Given the description of an element on the screen output the (x, y) to click on. 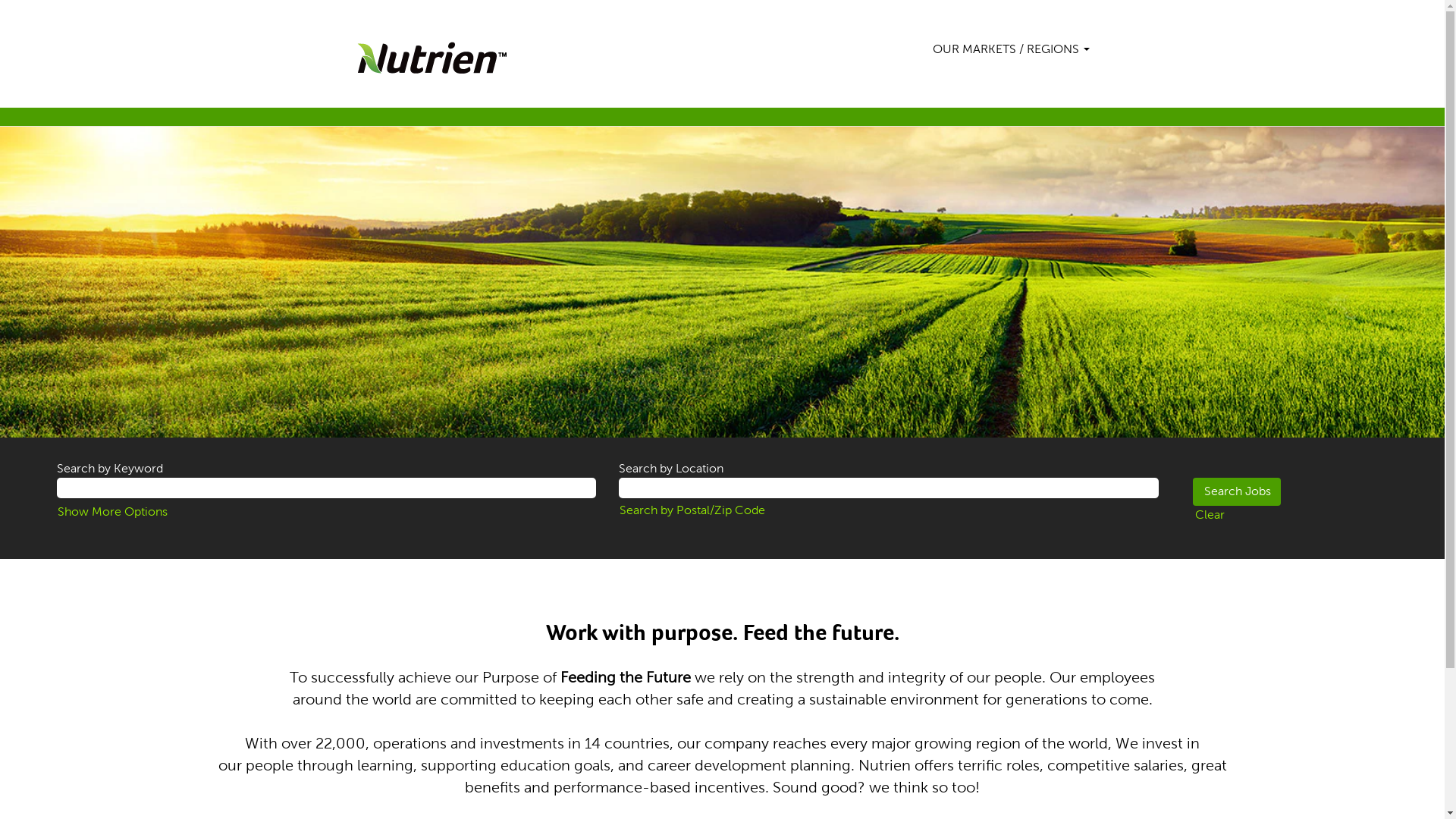
OUR MARKETS / REGIONS Element type: text (1010, 48)
Search by Postal/Zip Code Element type: text (691, 509)
Careers at Nutrien Element type: hover (431, 57)
Search Jobs Element type: text (1236, 491)
Show More Options Element type: text (112, 511)
Clear Element type: text (1208, 514)
